Given the description of an element on the screen output the (x, y) to click on. 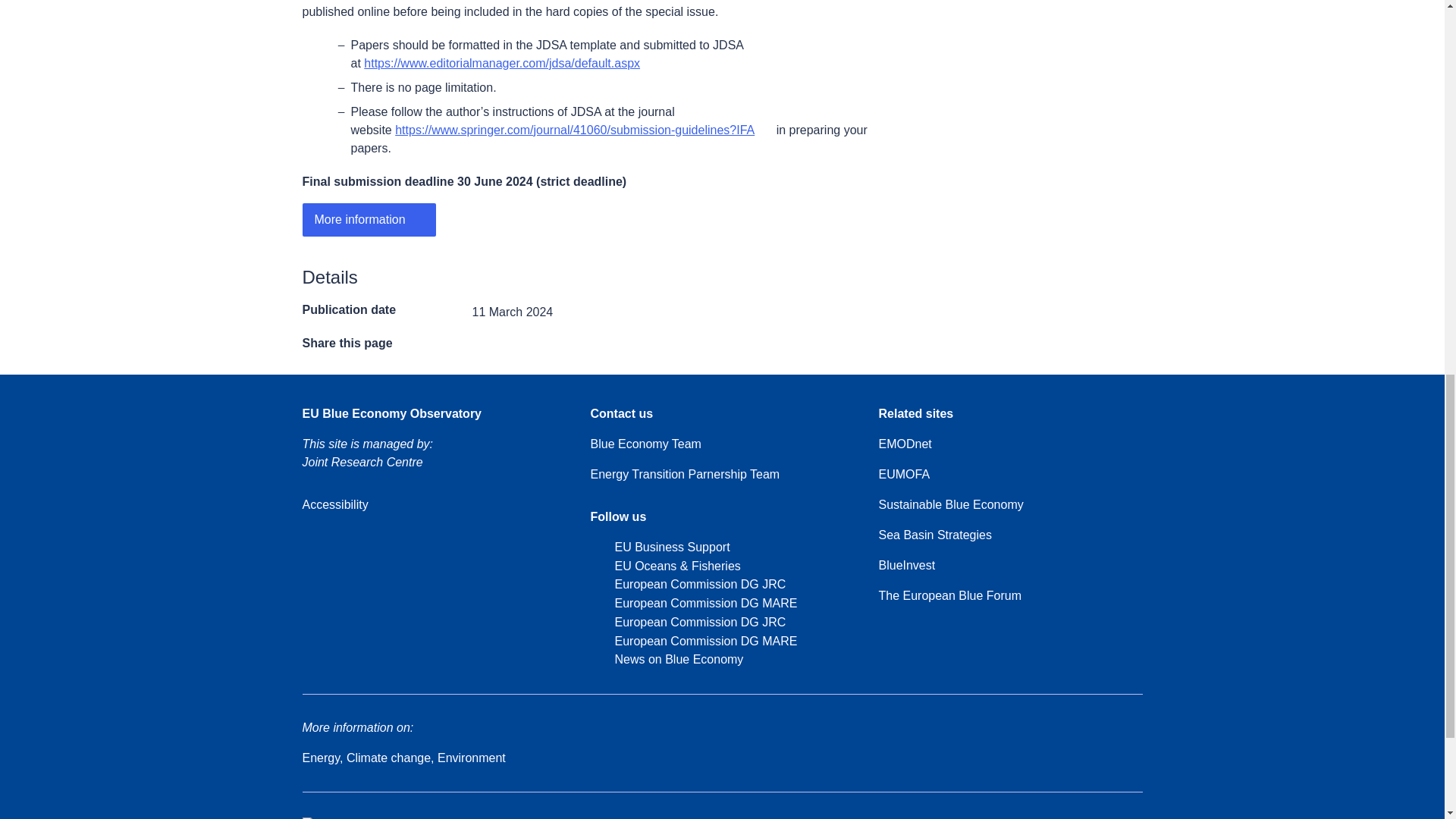
BlueInvest (905, 565)
European Commission DG MARE (692, 641)
Languages on our websites (951, 817)
EUMOFA (912, 475)
Contact the European Commission (683, 817)
The European Blue Forum (949, 596)
EU Business Support (659, 547)
Sustainable Blue Economy (950, 505)
European Commission DG JRC (687, 622)
Energy Transition Parnership Team (683, 475)
Sea Basin Strategies (934, 535)
News on Blue Economy (665, 659)
European Commission DG MARE (692, 603)
EU Blue Economy Observatory (391, 413)
More information (368, 219)
